Given the description of an element on the screen output the (x, y) to click on. 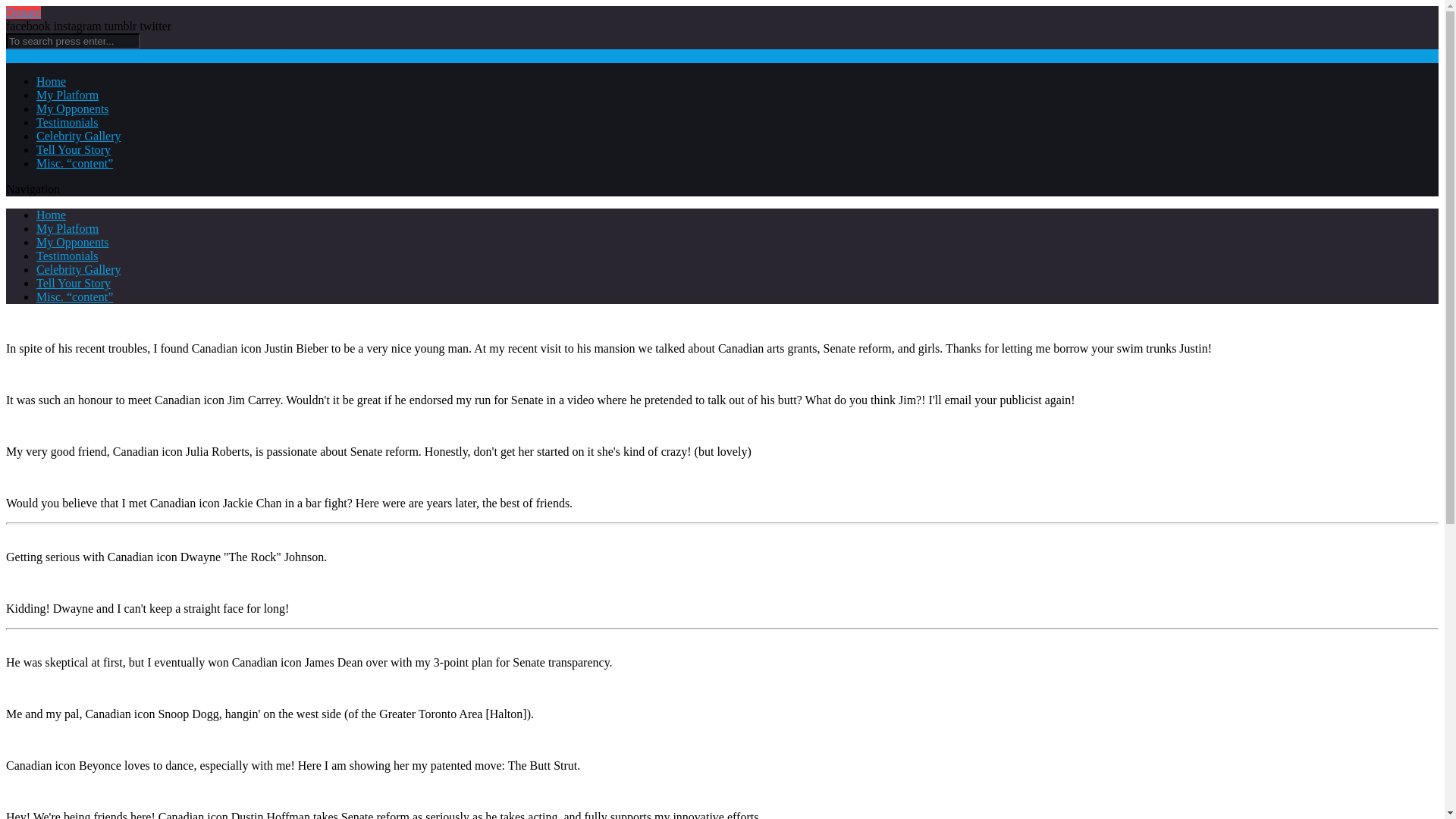
Home (50, 81)
Home (50, 214)
Tell Your Story (73, 282)
Testimonials (67, 255)
Celebrity Gallery (78, 135)
My Opponents (72, 108)
Tell Your Story (73, 149)
Donate (22, 11)
My Opponents (72, 241)
My Platform (67, 228)
